Given the description of an element on the screen output the (x, y) to click on. 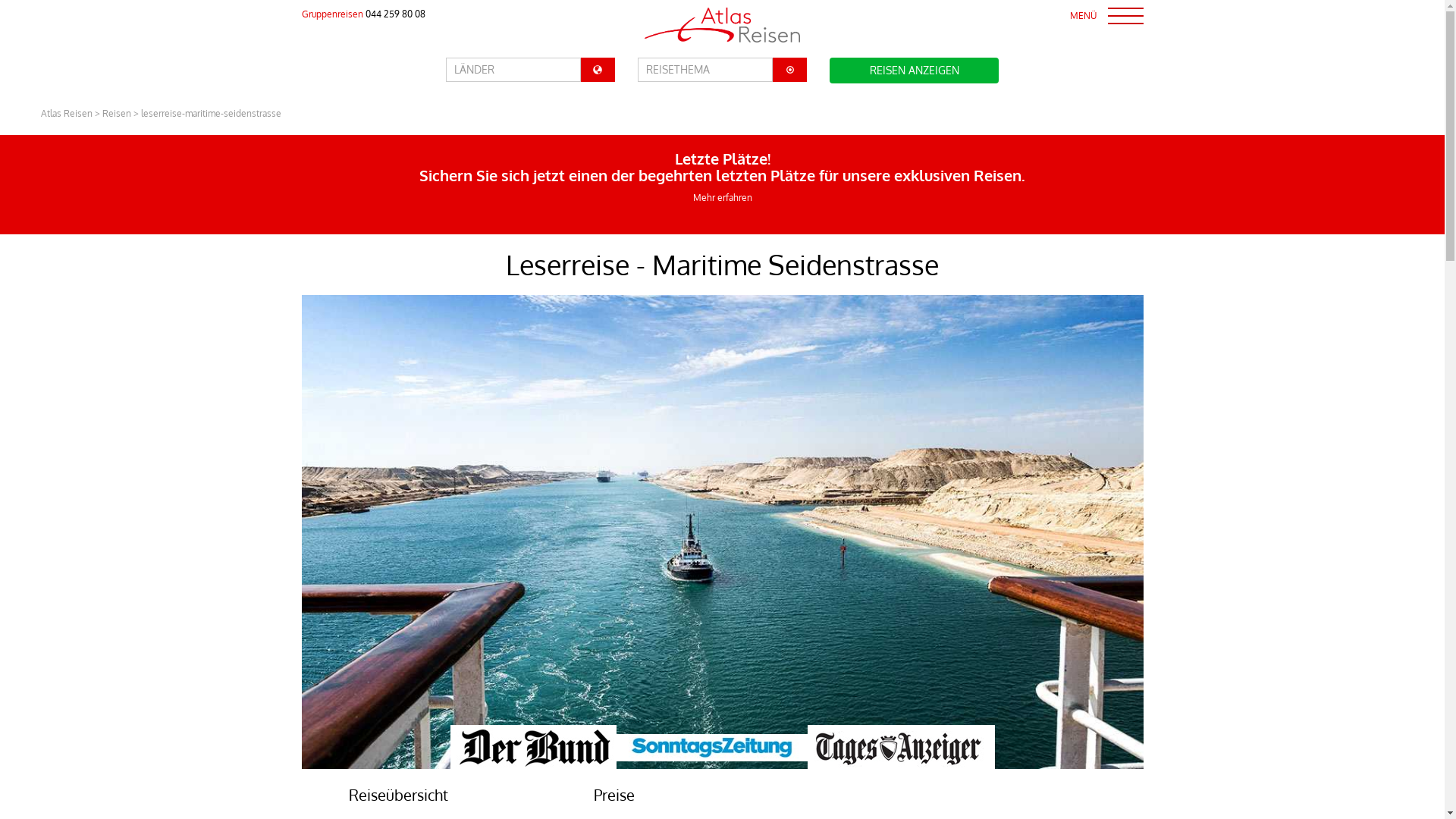
Reisen Element type: text (116, 113)
Preise Element type: text (613, 795)
 REISEN ANZEIGEN Element type: text (913, 70)
Atlas Reisen Element type: text (66, 113)
Link zur Startseite Element type: hover (722, 24)
